Given the description of an element on the screen output the (x, y) to click on. 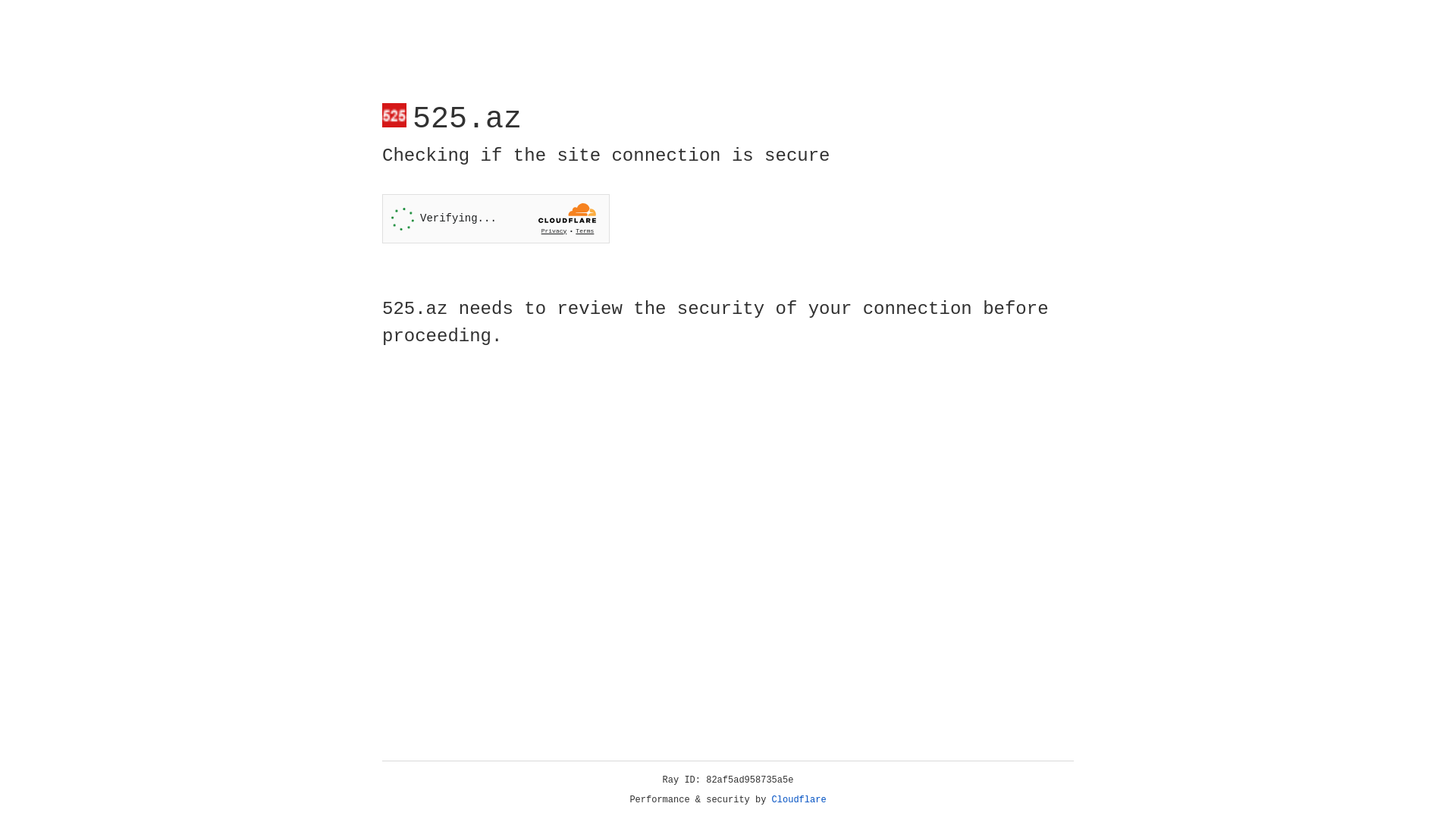
Cloudflare Element type: text (798, 799)
Widget containing a Cloudflare security challenge Element type: hover (495, 218)
